Given the description of an element on the screen output the (x, y) to click on. 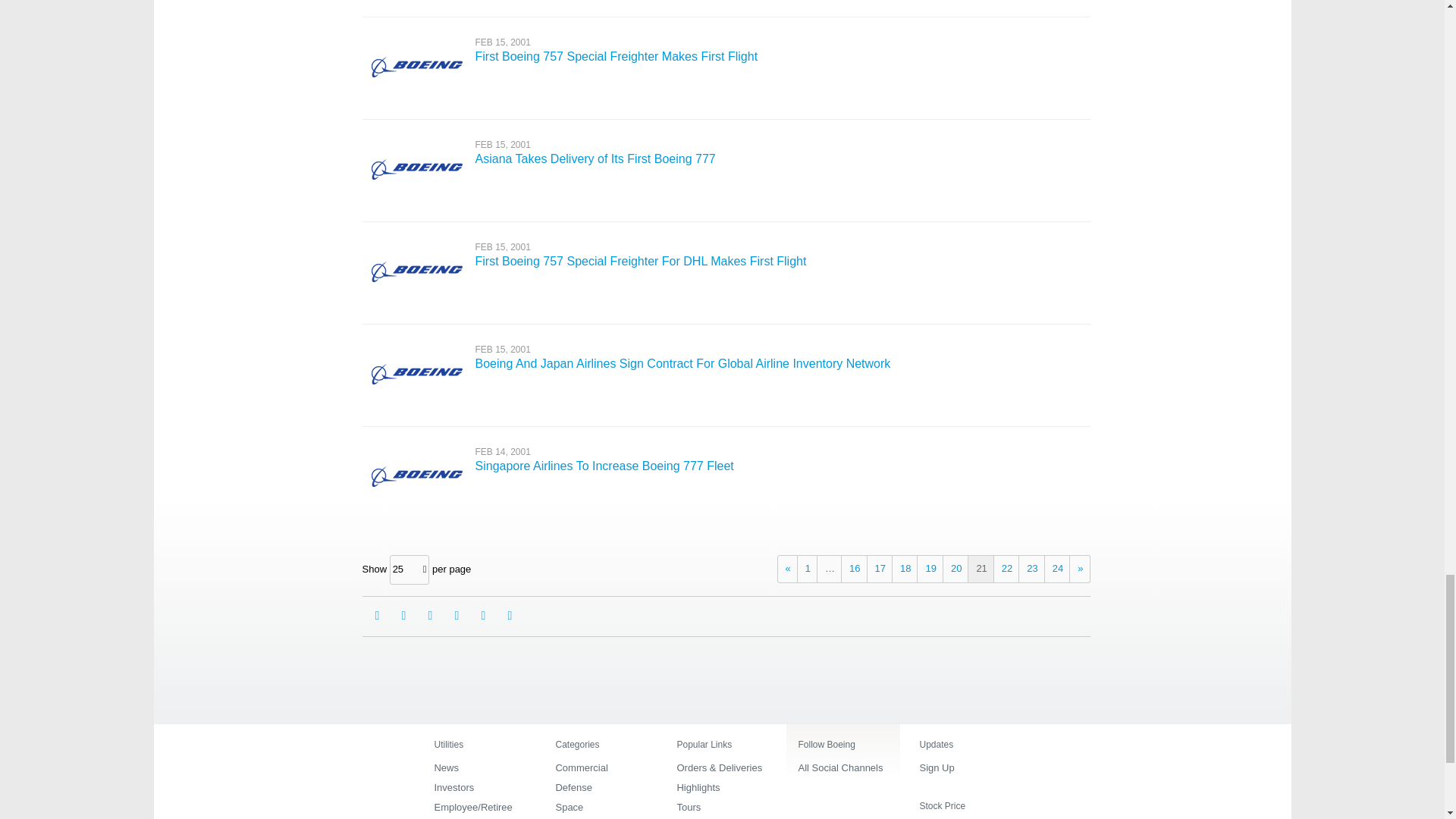
Twitter Share (456, 615)
print (483, 615)
Linkedin Share (430, 615)
email (376, 615)
rss (510, 615)
Facebook Share (403, 615)
Select number of items per page (409, 569)
